Given the description of an element on the screen output the (x, y) to click on. 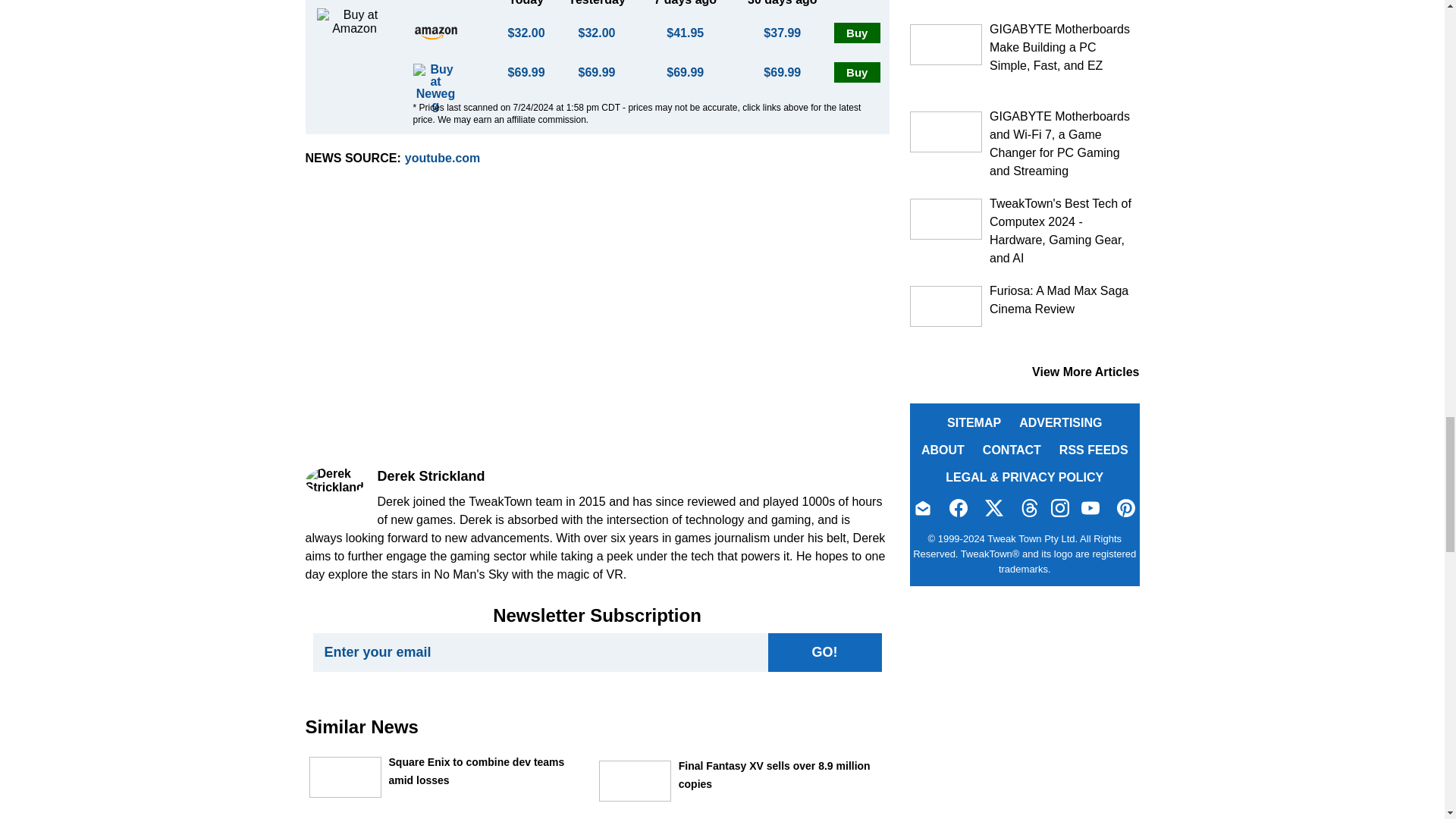
GO! (823, 652)
Buy at Amazon (857, 32)
Buy at Amazon (435, 32)
Buy at Newegg (435, 105)
